Given the description of an element on the screen output the (x, y) to click on. 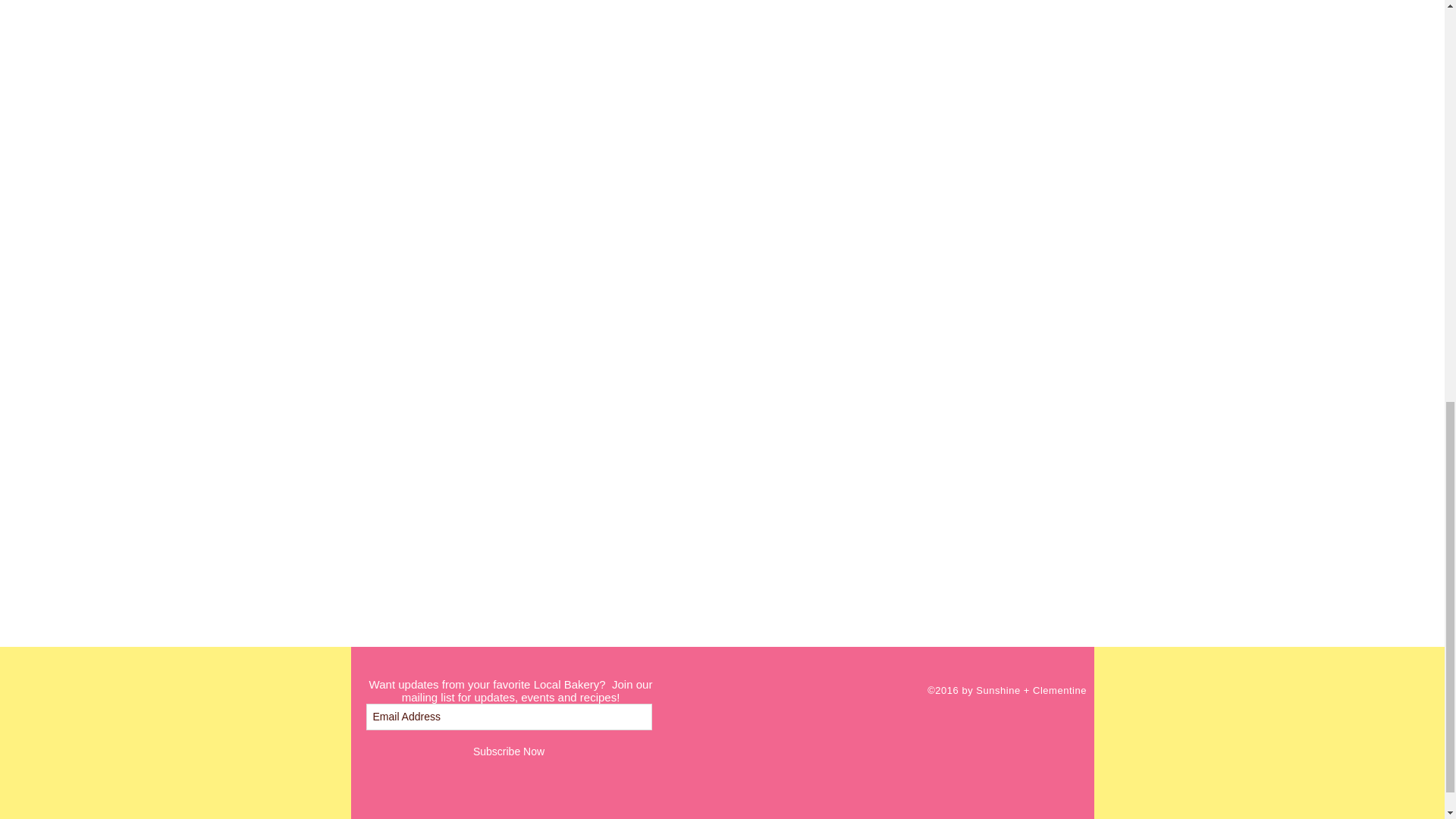
Subscribe Now (507, 751)
